Given the description of an element on the screen output the (x, y) to click on. 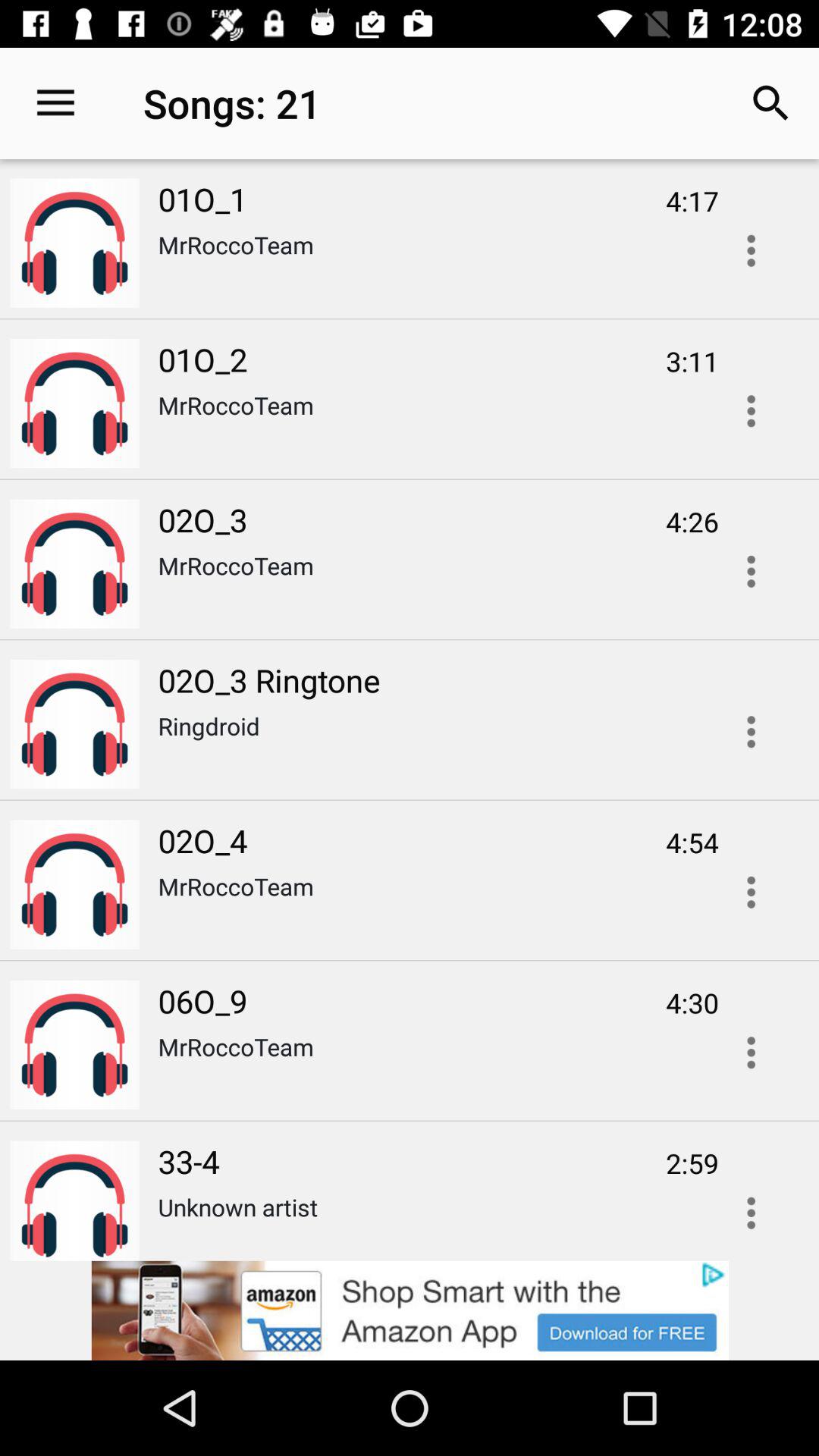
over view option (750, 1052)
